Given the description of an element on the screen output the (x, y) to click on. 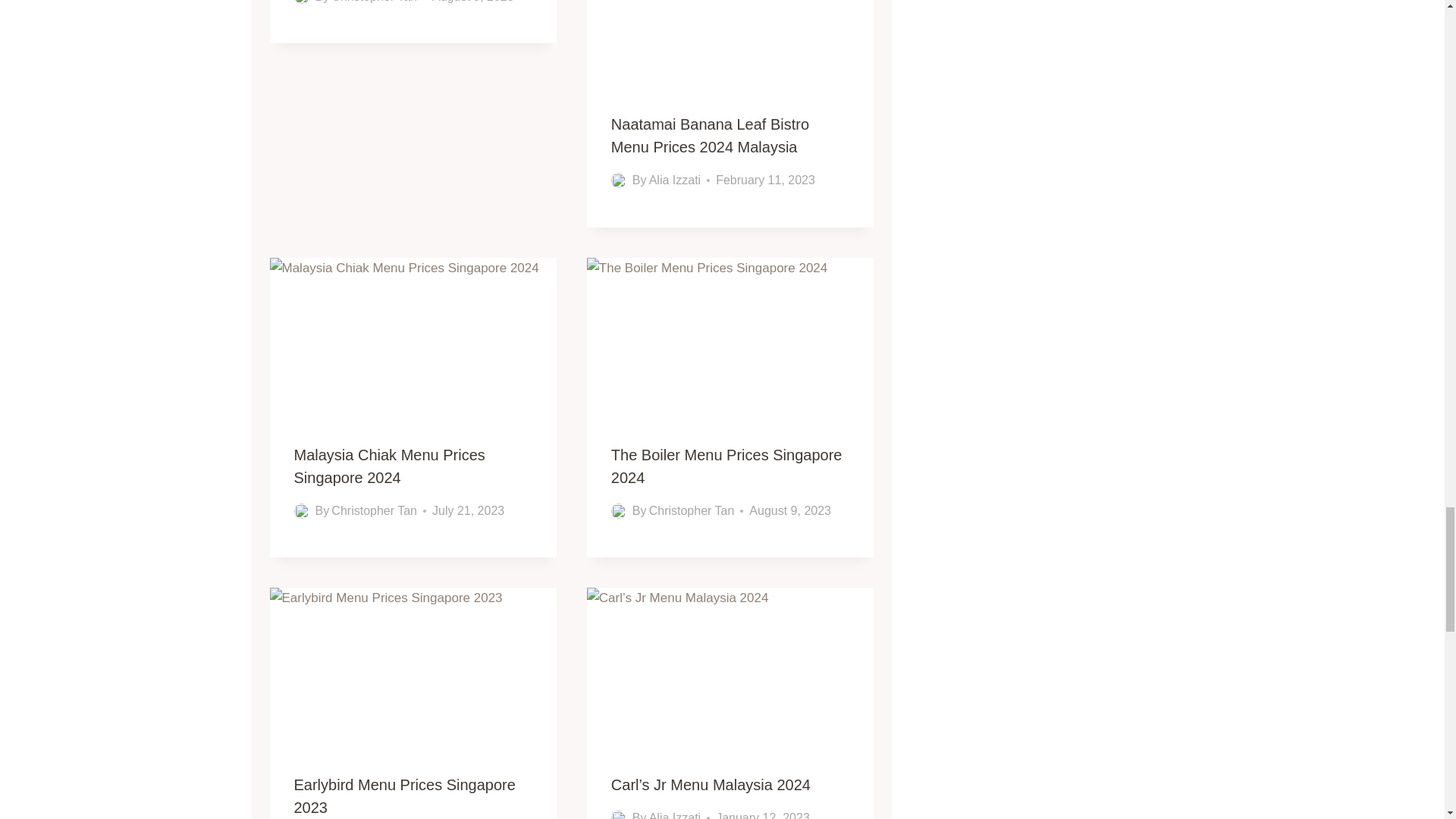
The Boiler Menu Prices Singapore 2024 48 (729, 338)
Malaysia Chiak Menu Prices Singapore 2024 5 (412, 338)
Carl's Jr Menu Malaysia 2024 93 (729, 668)
Earlybird Menu Prices Singapore 2023 49 (412, 668)
Naatamai Banana Leaf Bistro Menu Prices 2024 Malaysia 4 (729, 44)
